Given the description of an element on the screen output the (x, y) to click on. 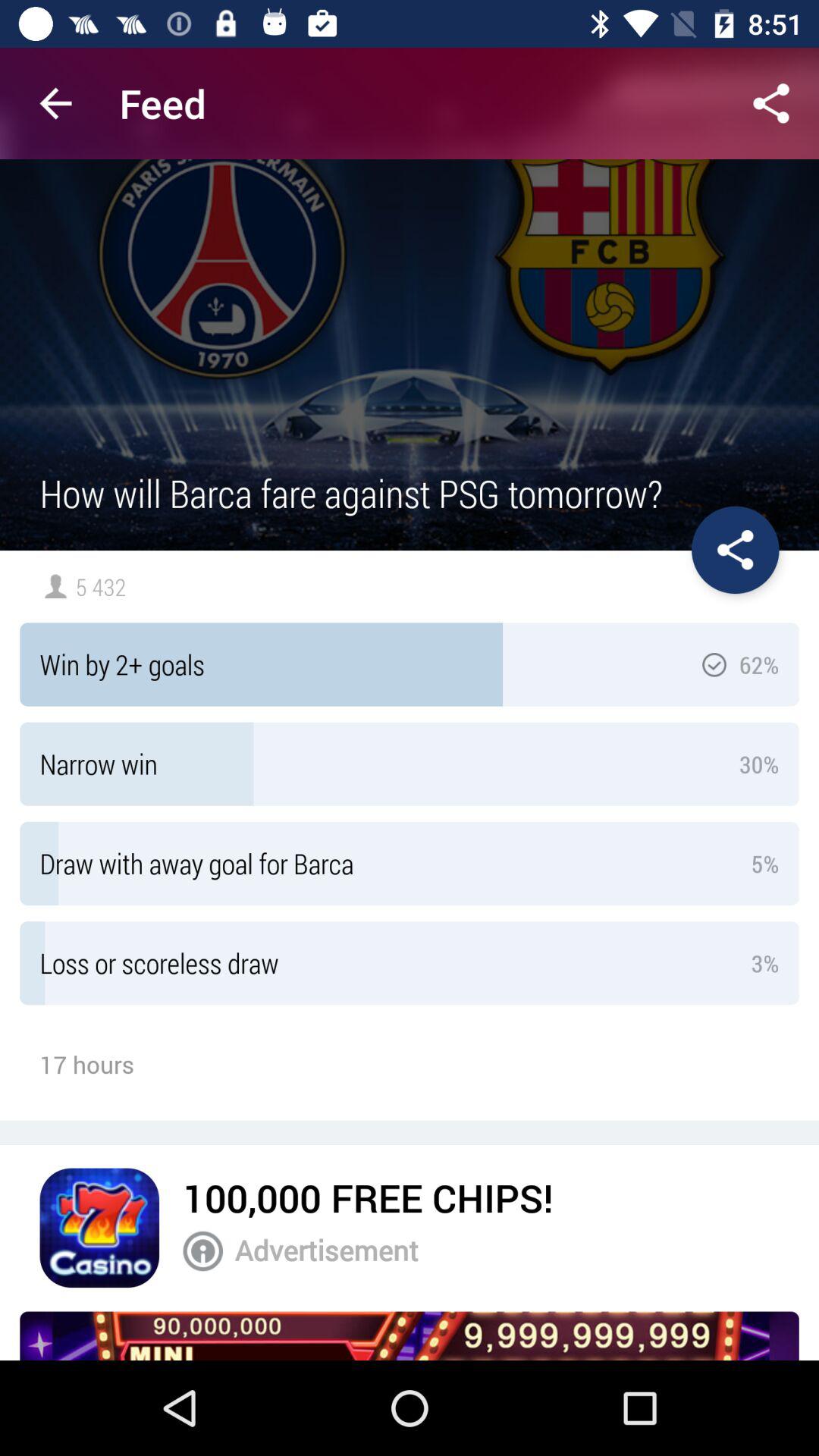
turn on the icon to the right of how will barca icon (735, 549)
